Given the description of an element on the screen output the (x, y) to click on. 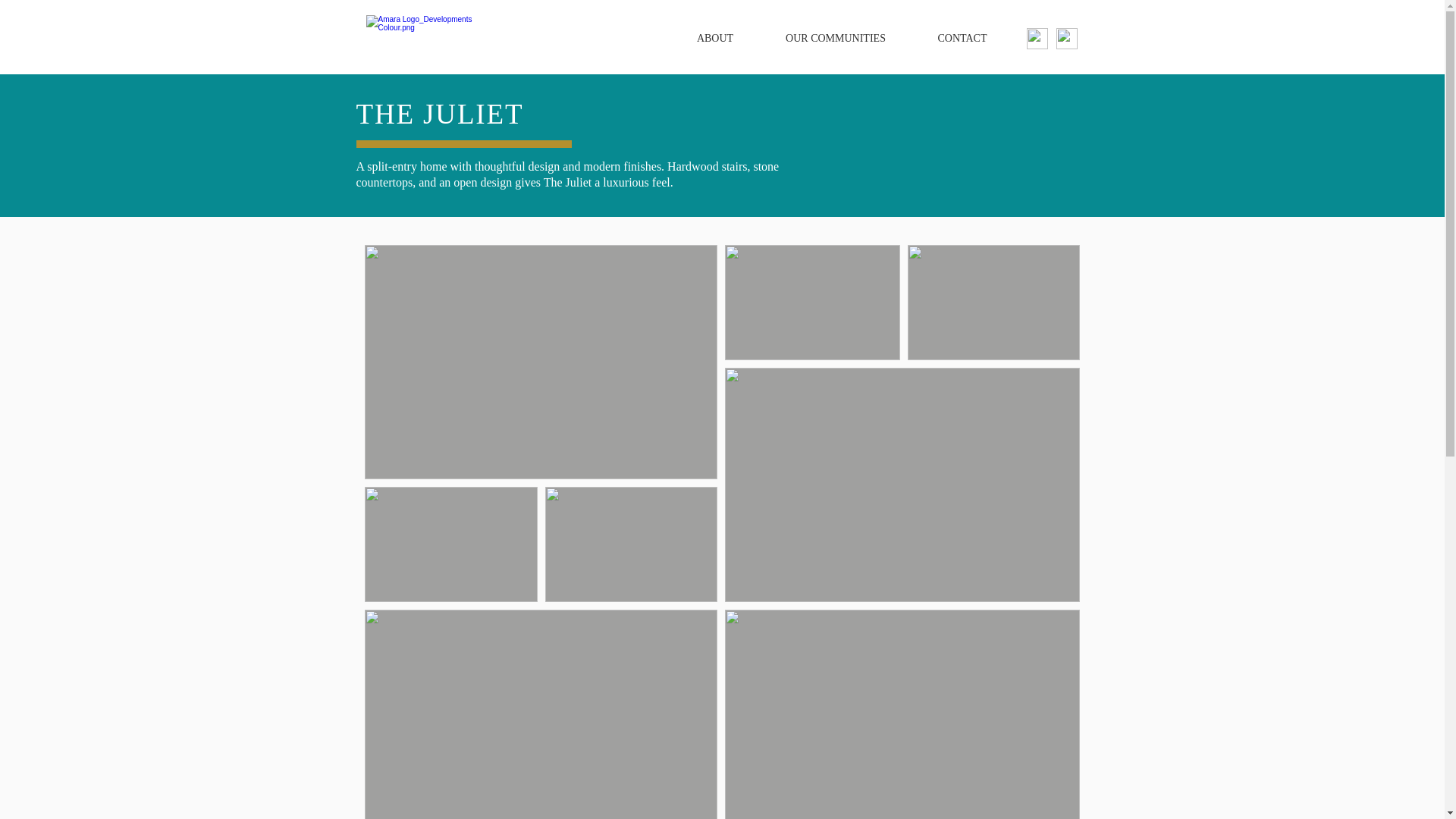
OUR COMMUNITIES Element type: text (835, 38)
ABOUT Element type: text (714, 38)
CONTACT Element type: text (961, 38)
